Given the description of an element on the screen output the (x, y) to click on. 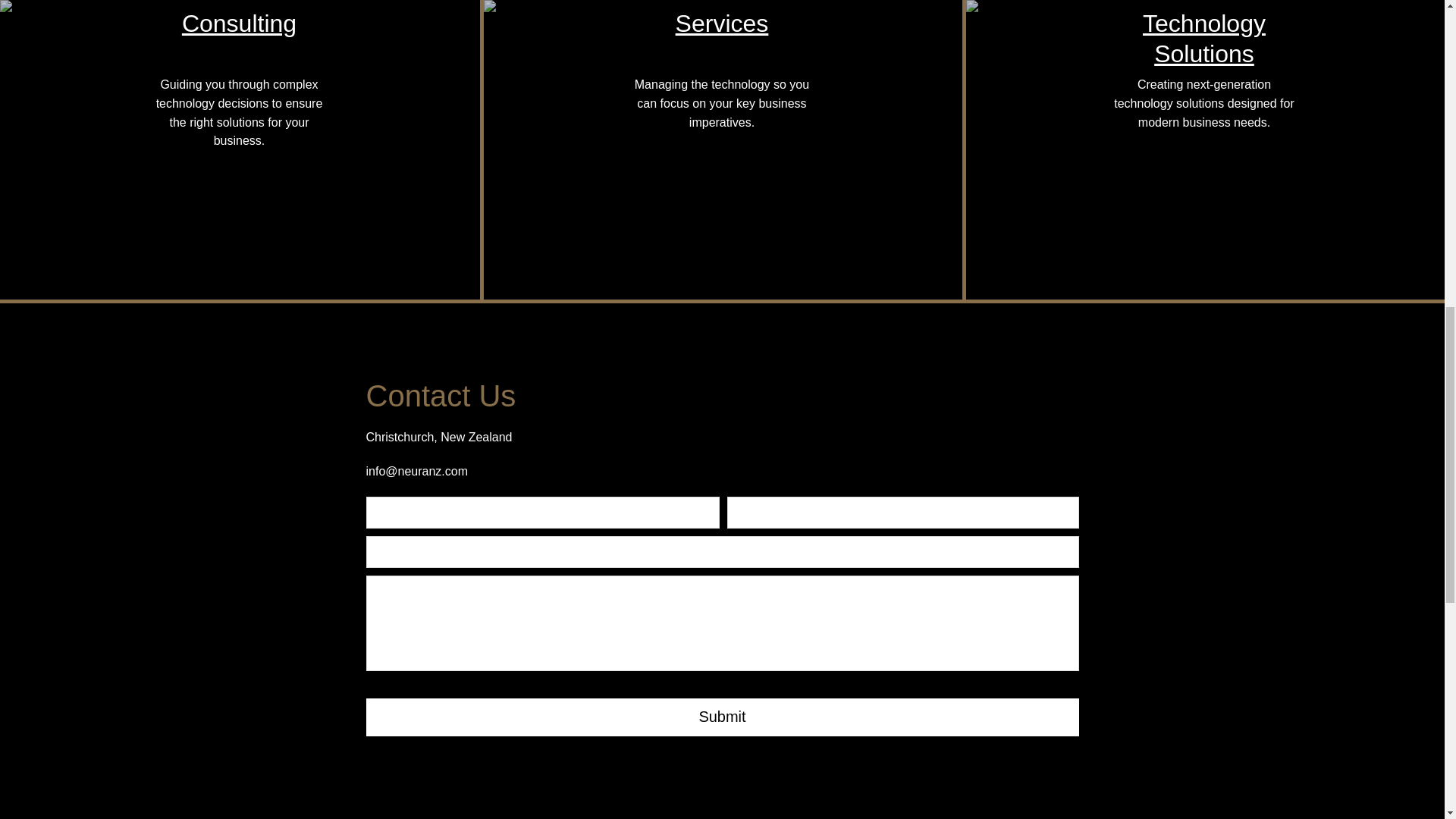
Submit (721, 717)
Services (721, 22)
Consulting (239, 22)
Technology Solutions (1203, 38)
